Given the description of an element on the screen output the (x, y) to click on. 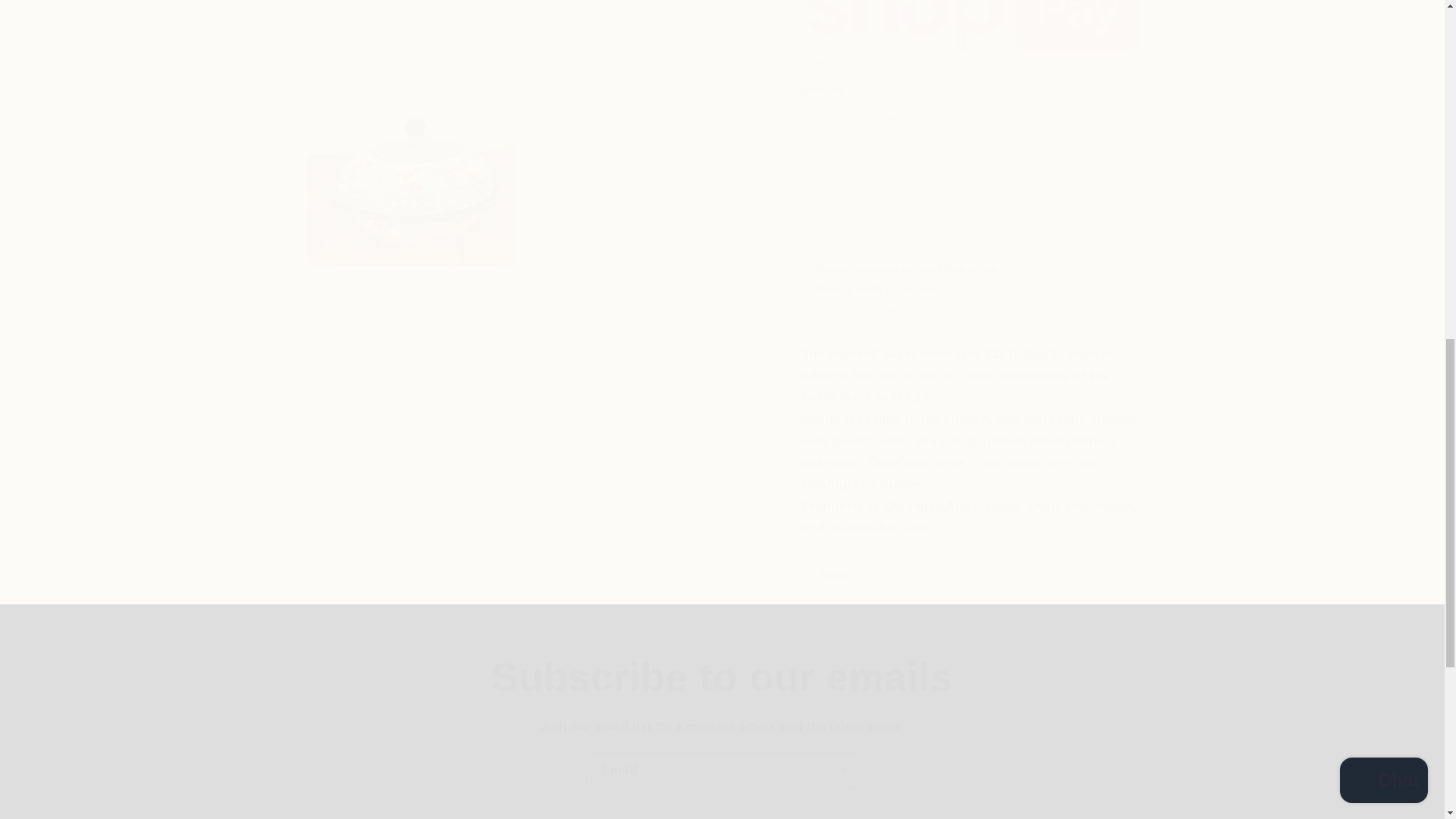
Email (722, 770)
Subscribe to our emails (721, 676)
